Given the description of an element on the screen output the (x, y) to click on. 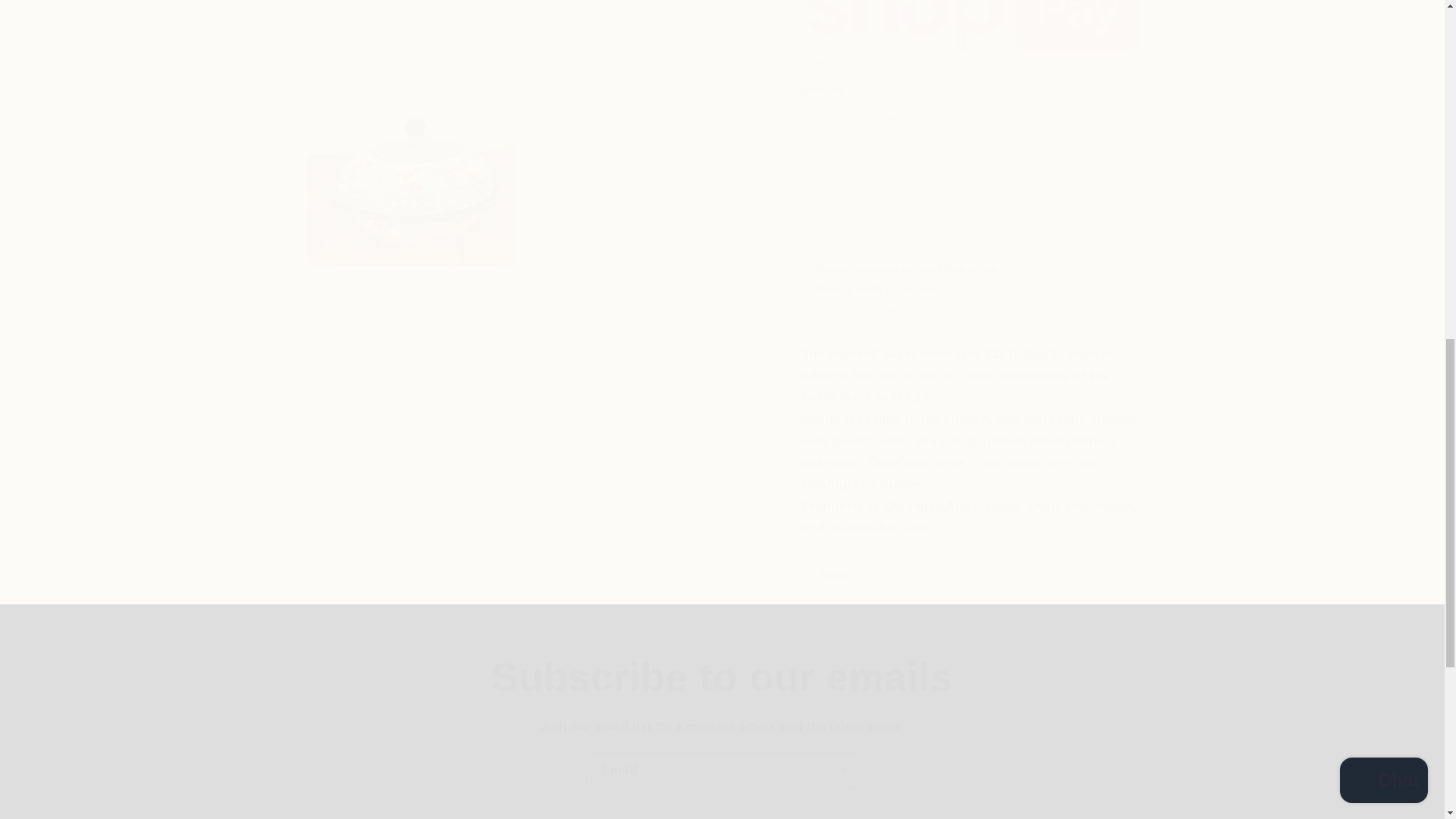
Email (722, 770)
Subscribe to our emails (721, 676)
